Given the description of an element on the screen output the (x, y) to click on. 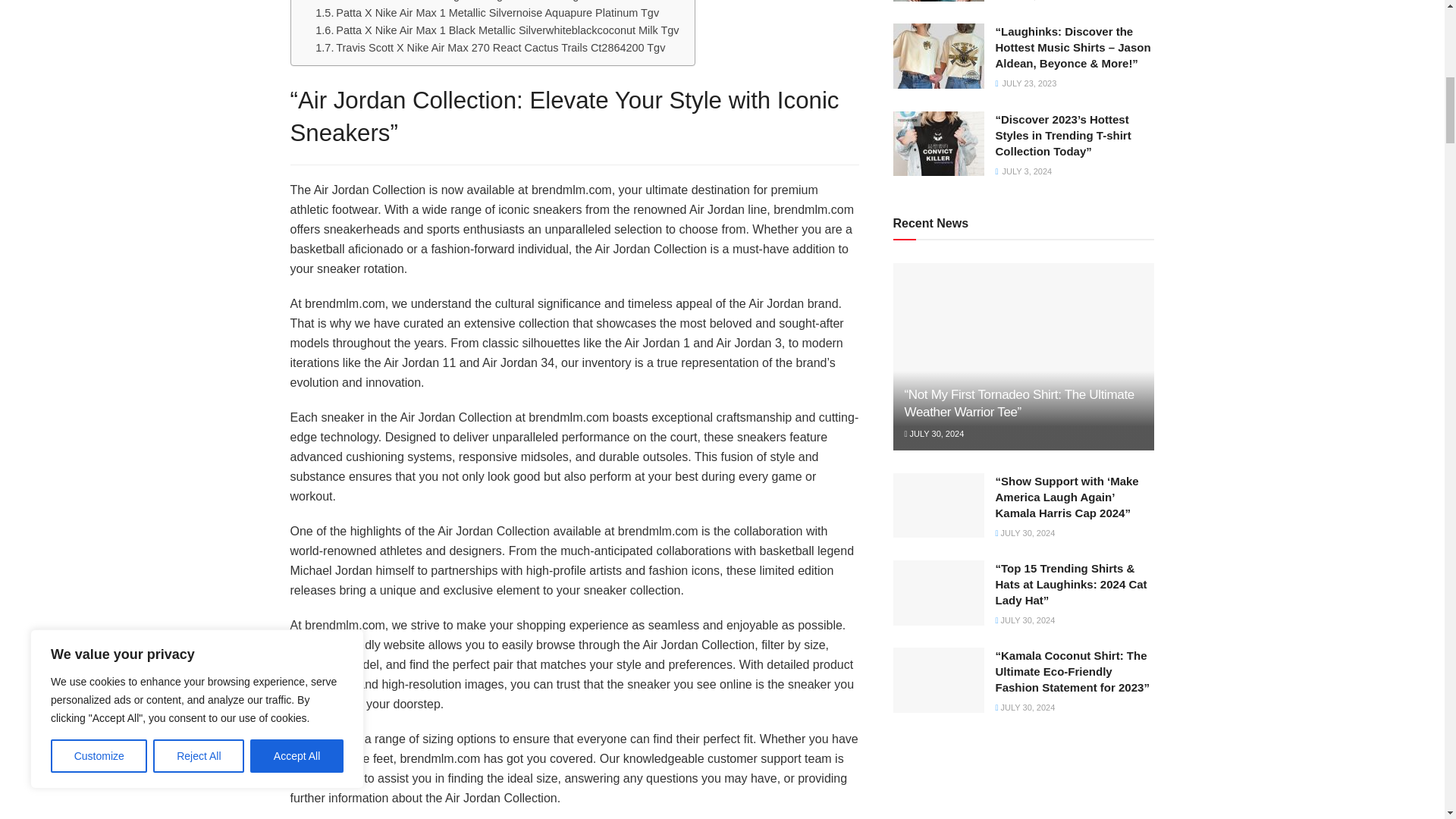
Ambush X Nike Dunk High Chicago Red White  Tgv (449, 2)
